Given the description of an element on the screen output the (x, y) to click on. 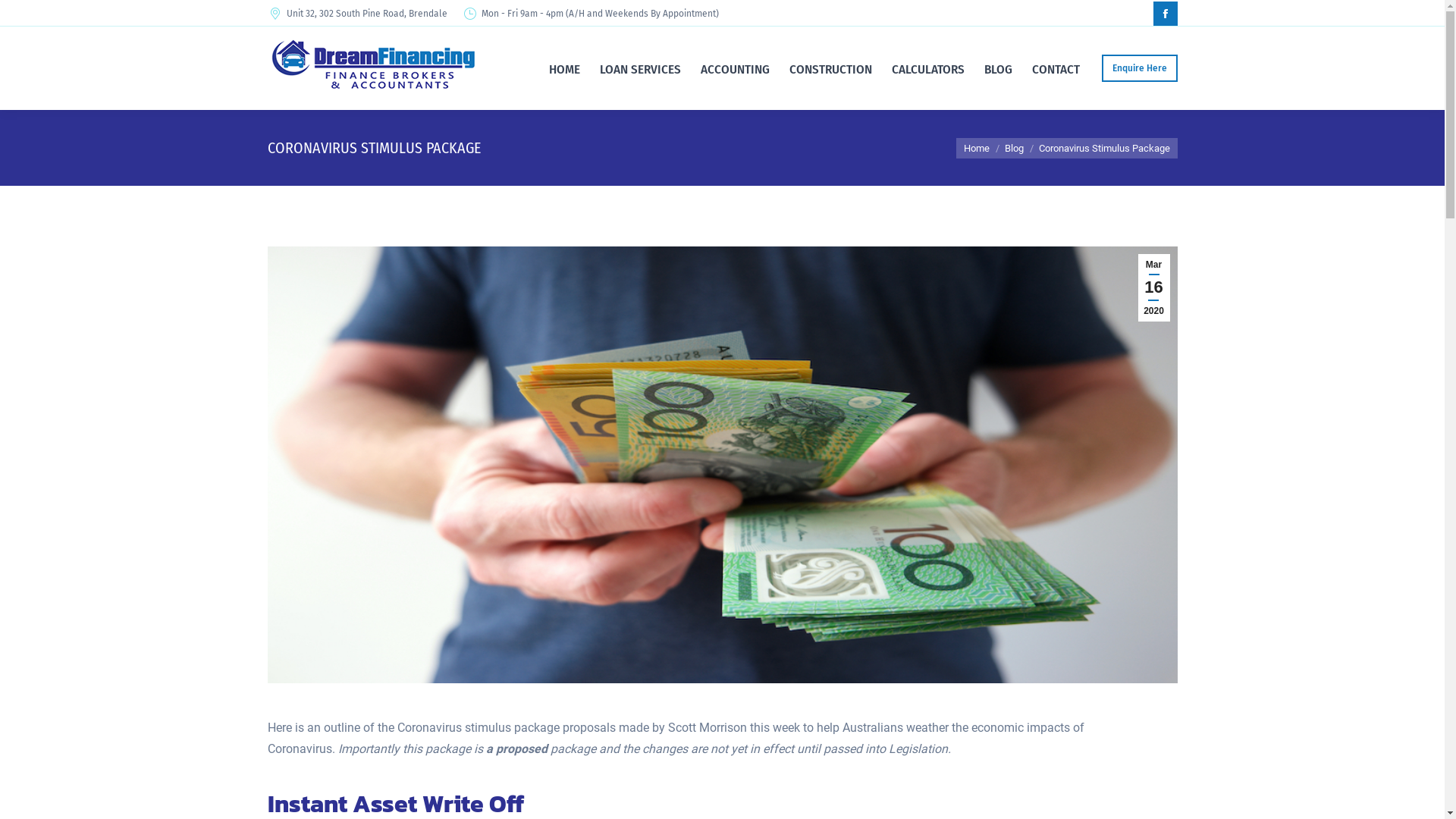
HOME Element type: text (563, 68)
BLOG Element type: text (997, 68)
Home Element type: text (975, 147)
ACCOUNTING Element type: text (734, 68)
Blog Element type: text (1013, 147)
Enquire Here Element type: text (1138, 67)
LOAN SERVICES Element type: text (640, 68)
Mar
16
2020 Element type: text (1153, 287)
CONSTRUCTION Element type: text (830, 68)
stimulus package Element type: hover (721, 464)
CONTACT Element type: text (1055, 68)
CALCULATORS Element type: text (927, 68)
Facebook page opens in new window Element type: text (1164, 13)
